Given the description of an element on the screen output the (x, y) to click on. 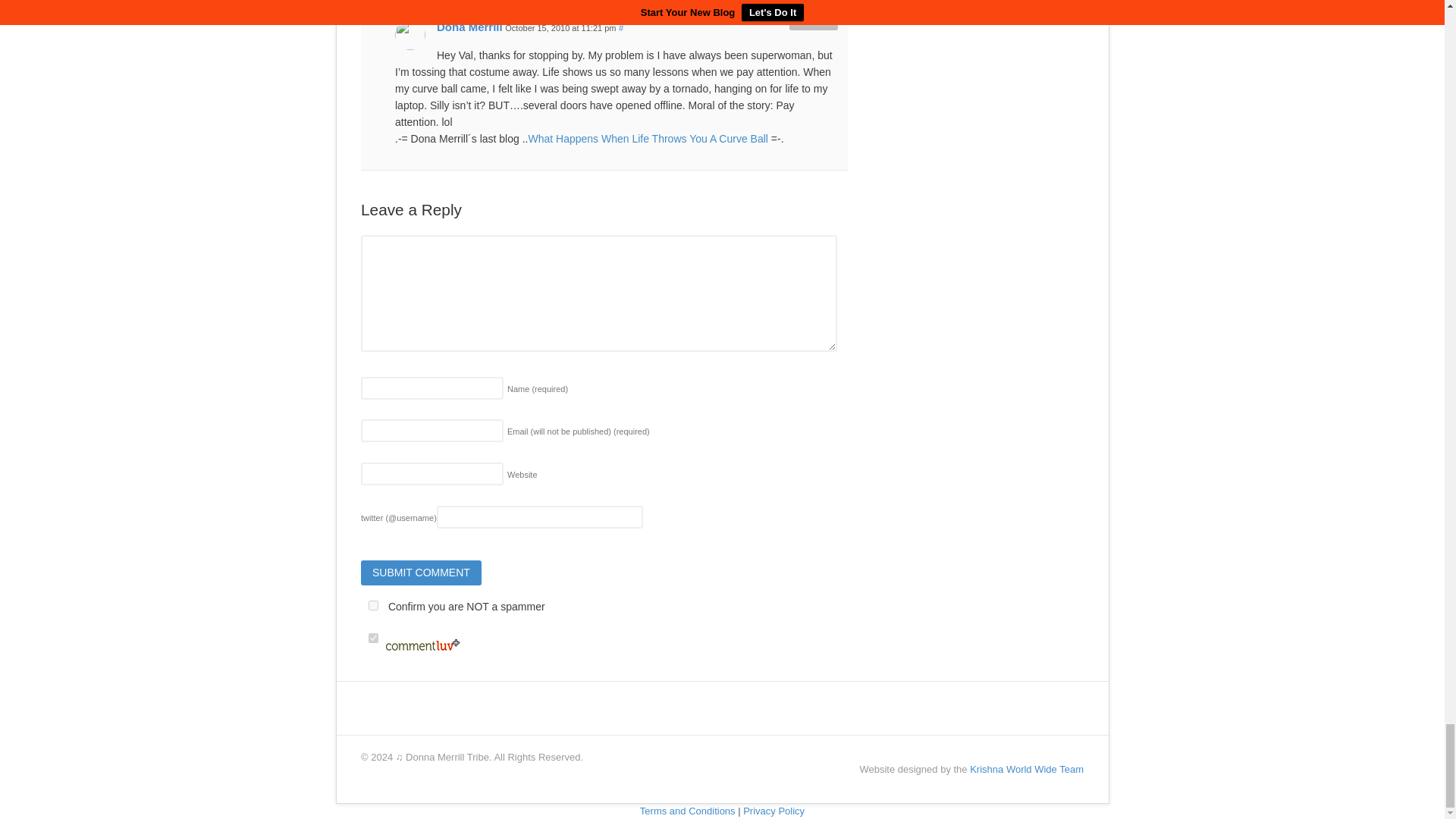
Submit Comment (421, 573)
on (373, 605)
on (373, 637)
